Given the description of an element on the screen output the (x, y) to click on. 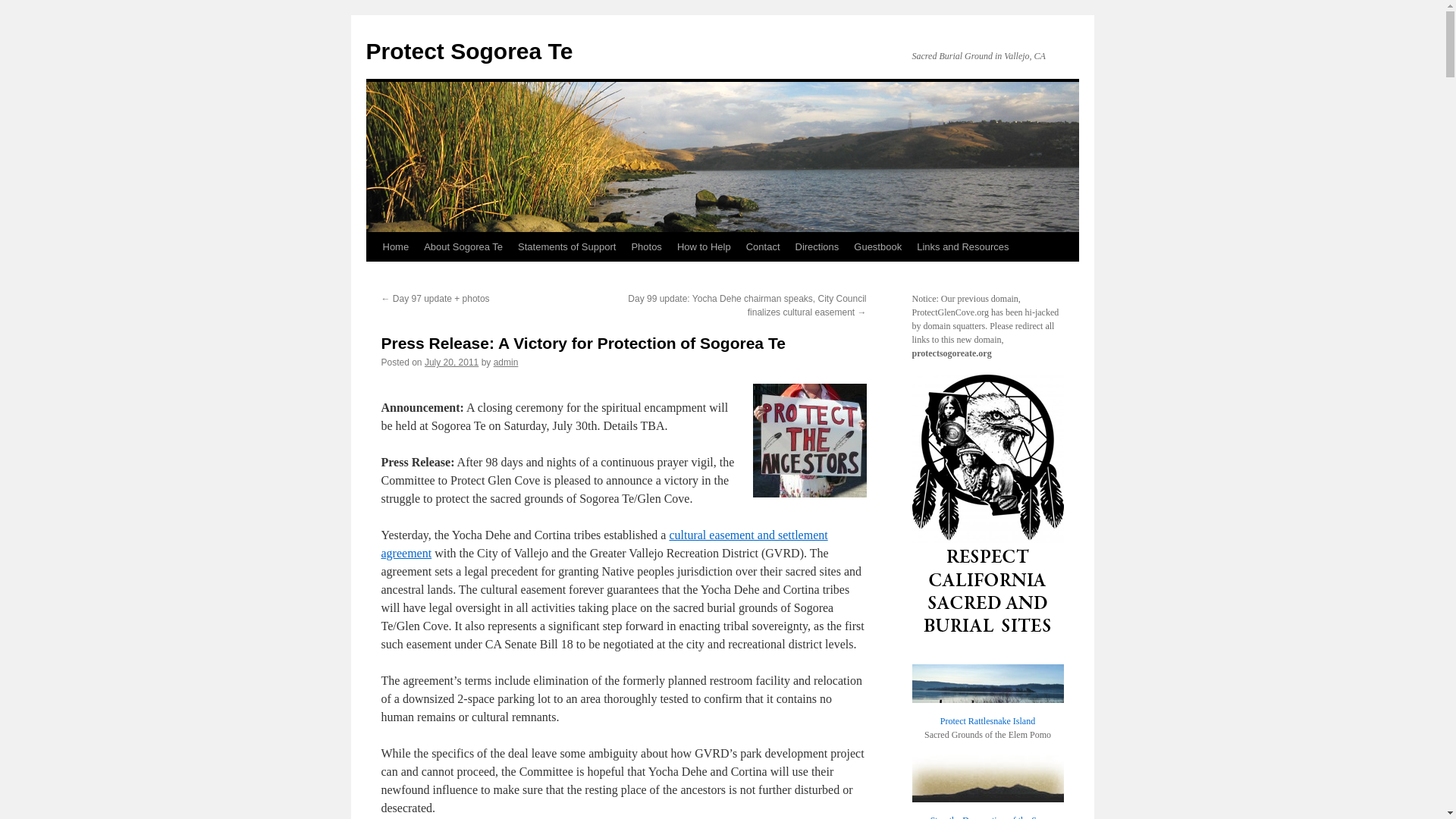
admin (505, 362)
Home (395, 246)
Links and Resources (962, 246)
Statements of Support (567, 246)
July 20, 2011 (452, 362)
Photos (645, 246)
cultural easement and settlement agreement (603, 543)
About Sogorea Te (463, 246)
How to Help (703, 246)
Protect Sogorea Te (468, 50)
